Given the description of an element on the screen output the (x, y) to click on. 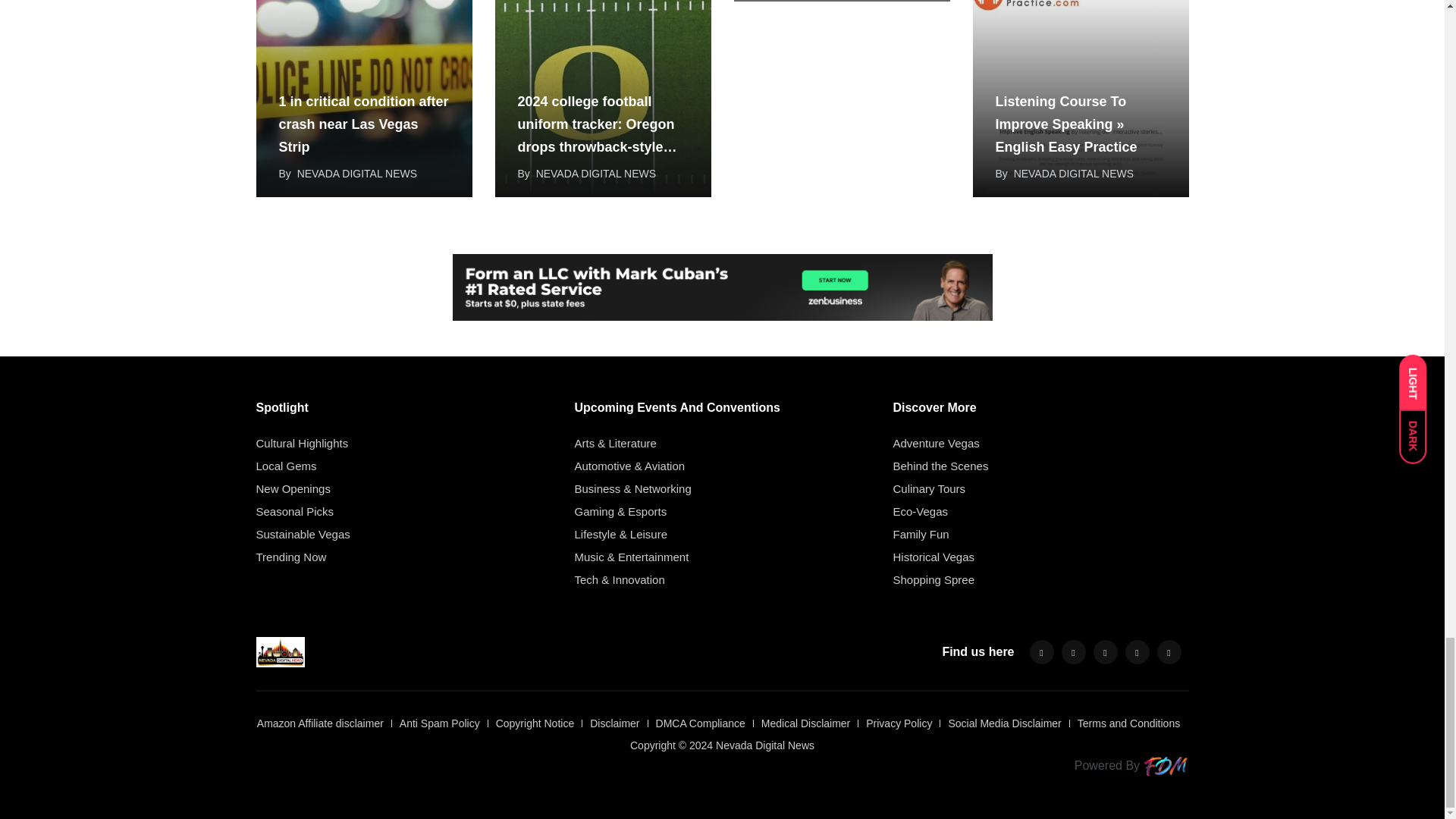
Posts by NEVADA DIGITAL NEWS (595, 173)
Posts by NEVADA DIGITAL NEWS (356, 173)
1 in critical condition after crash near Las Vegas Strip (363, 98)
